Given the description of an element on the screen output the (x, y) to click on. 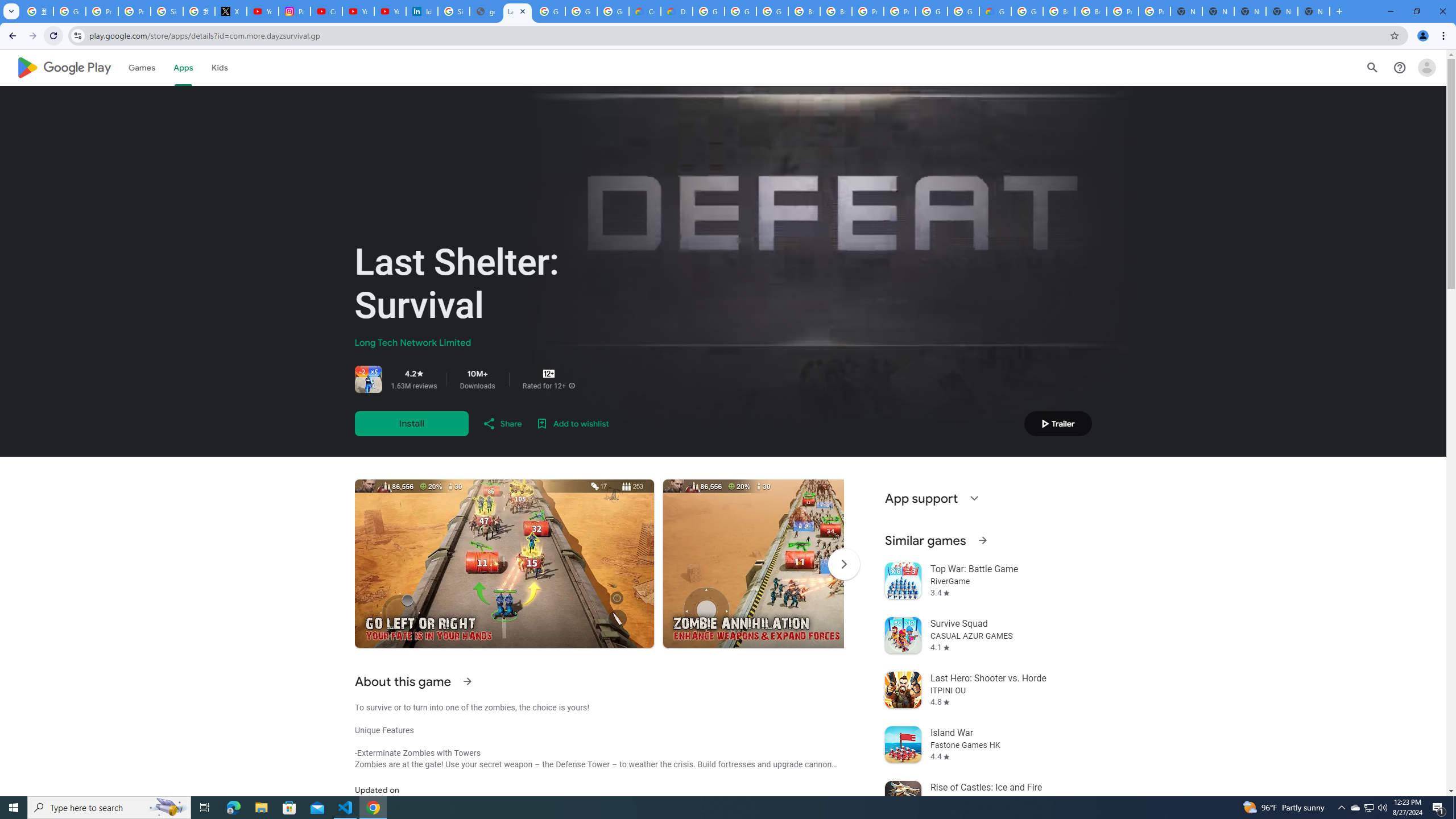
Google Cloud Platform (1027, 11)
Last Shelter: Survival - Apps on Google Play (517, 11)
Screenshot image (812, 563)
Add to wishlist (571, 422)
See more information on About this game (466, 681)
Google Play logo (64, 67)
